Given the description of an element on the screen output the (x, y) to click on. 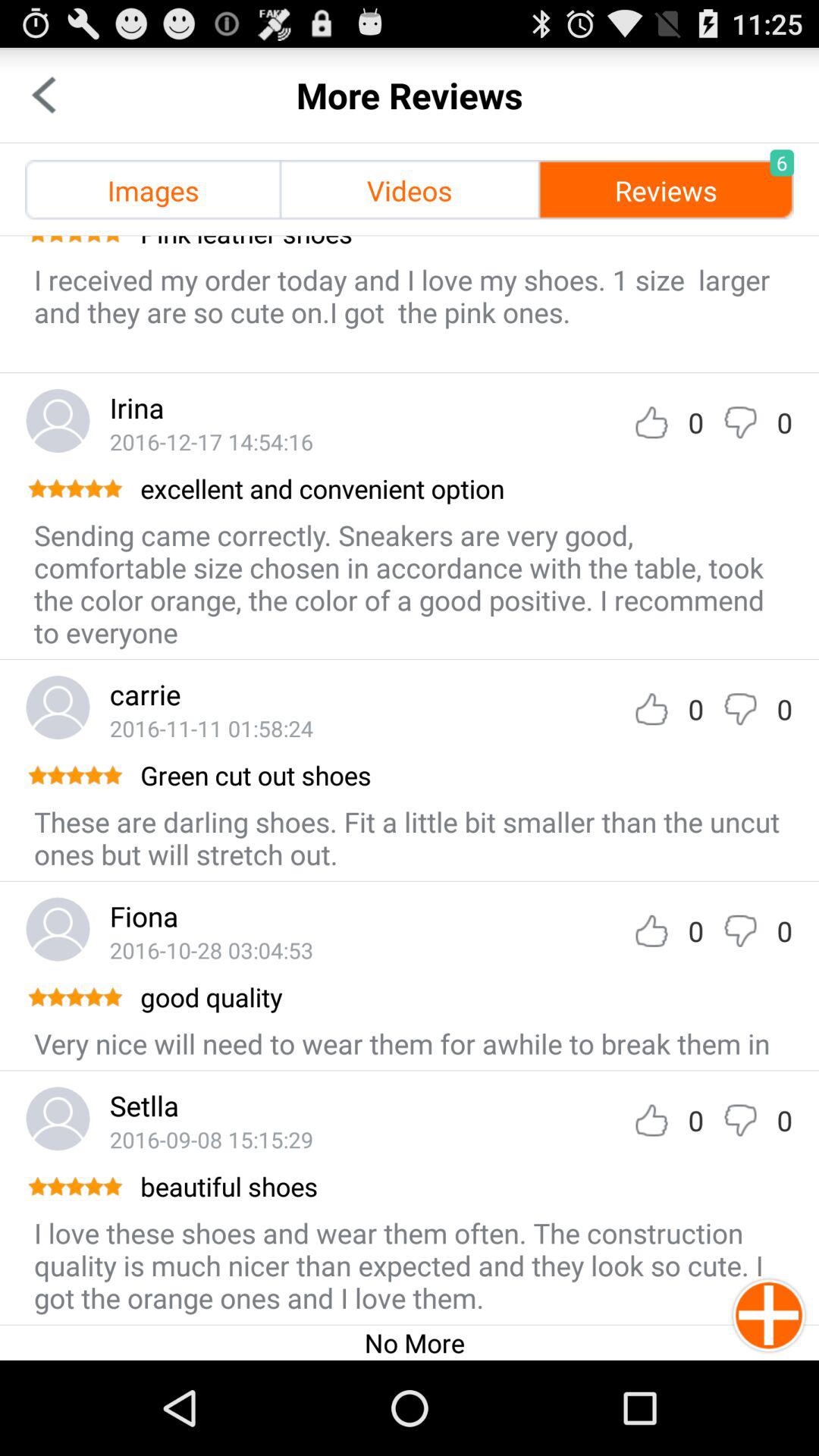
go back (43, 95)
